Given the description of an element on the screen output the (x, y) to click on. 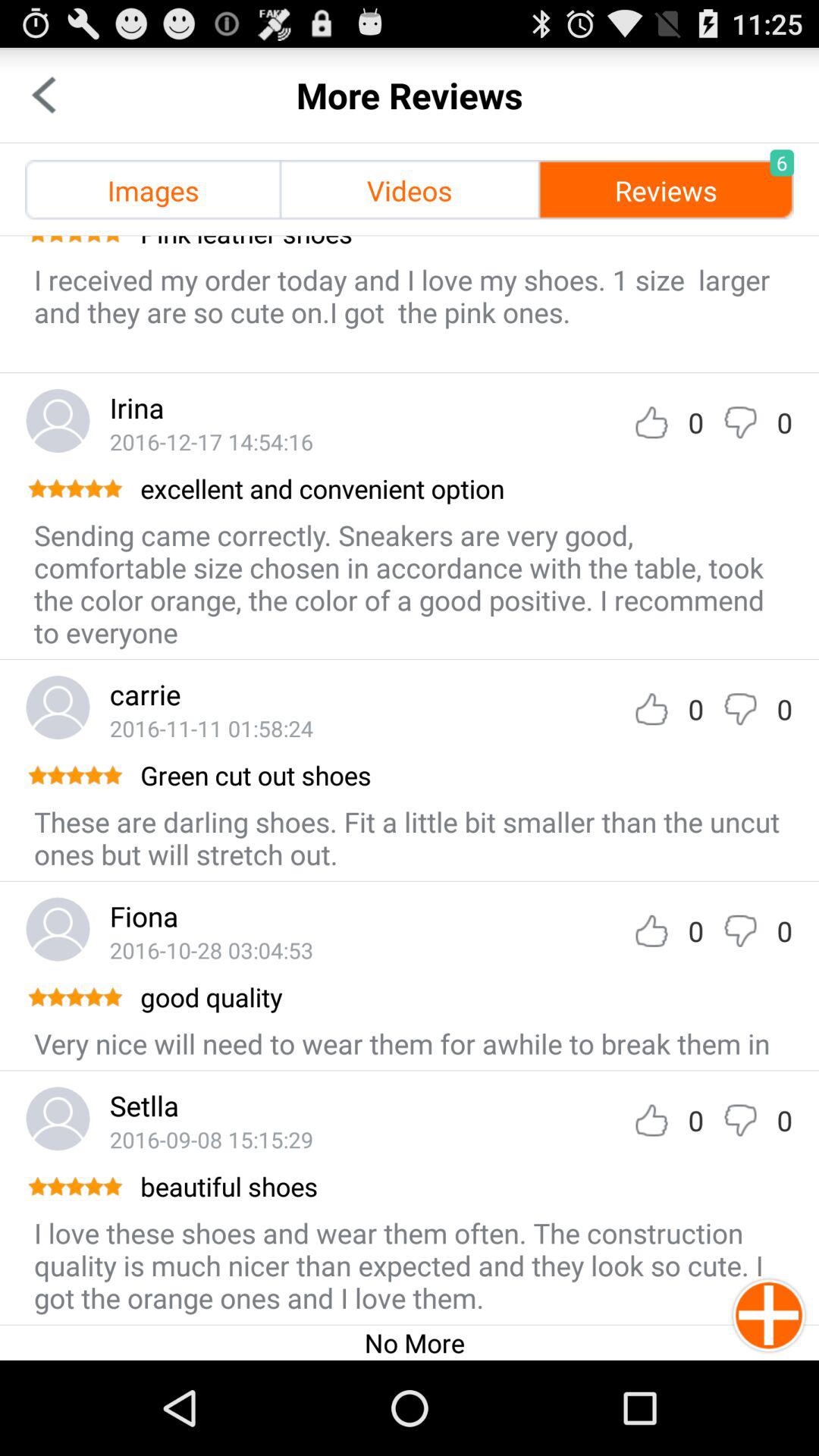
go back (43, 95)
